Given the description of an element on the screen output the (x, y) to click on. 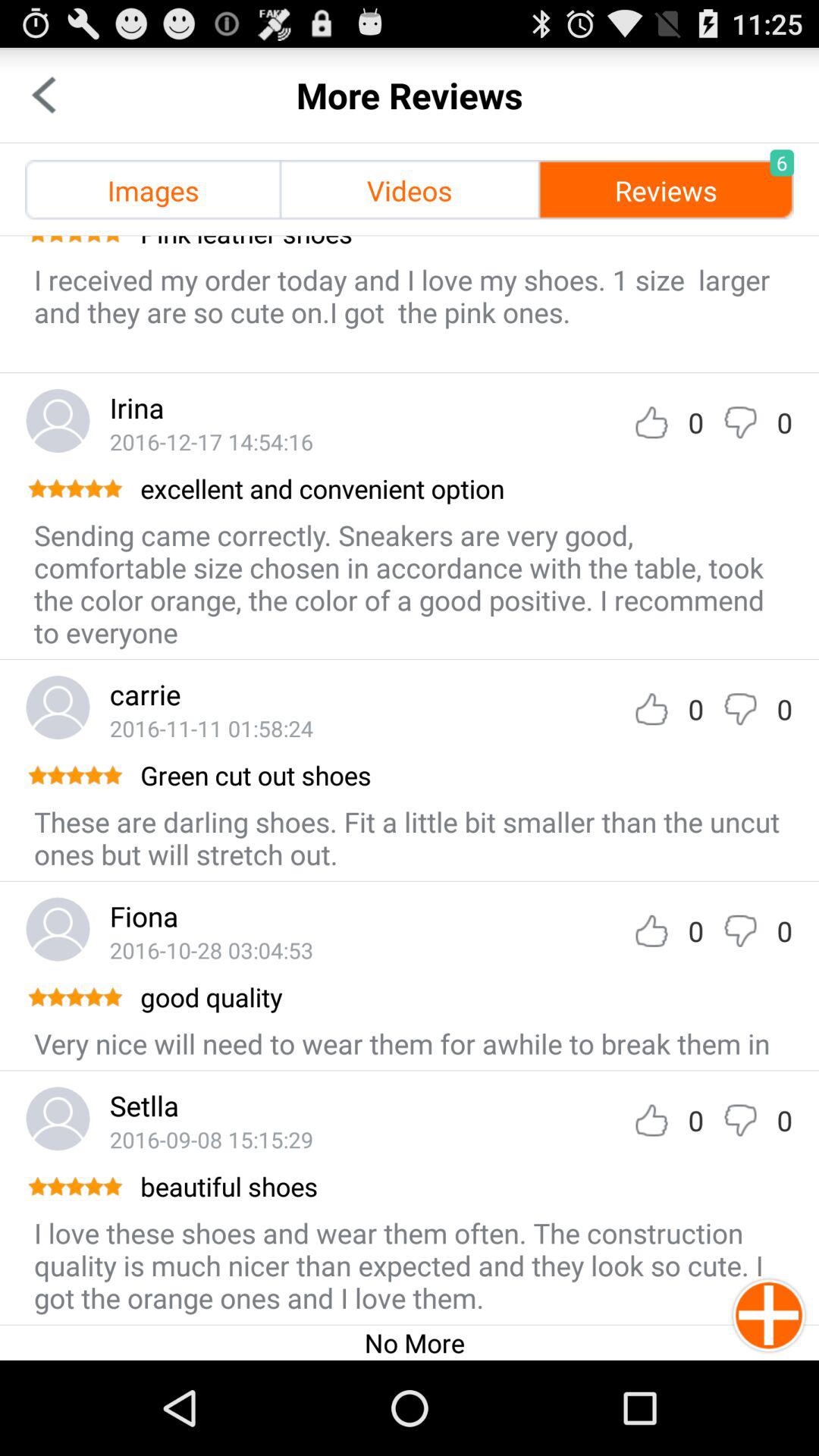
go back (43, 95)
